Given the description of an element on the screen output the (x, y) to click on. 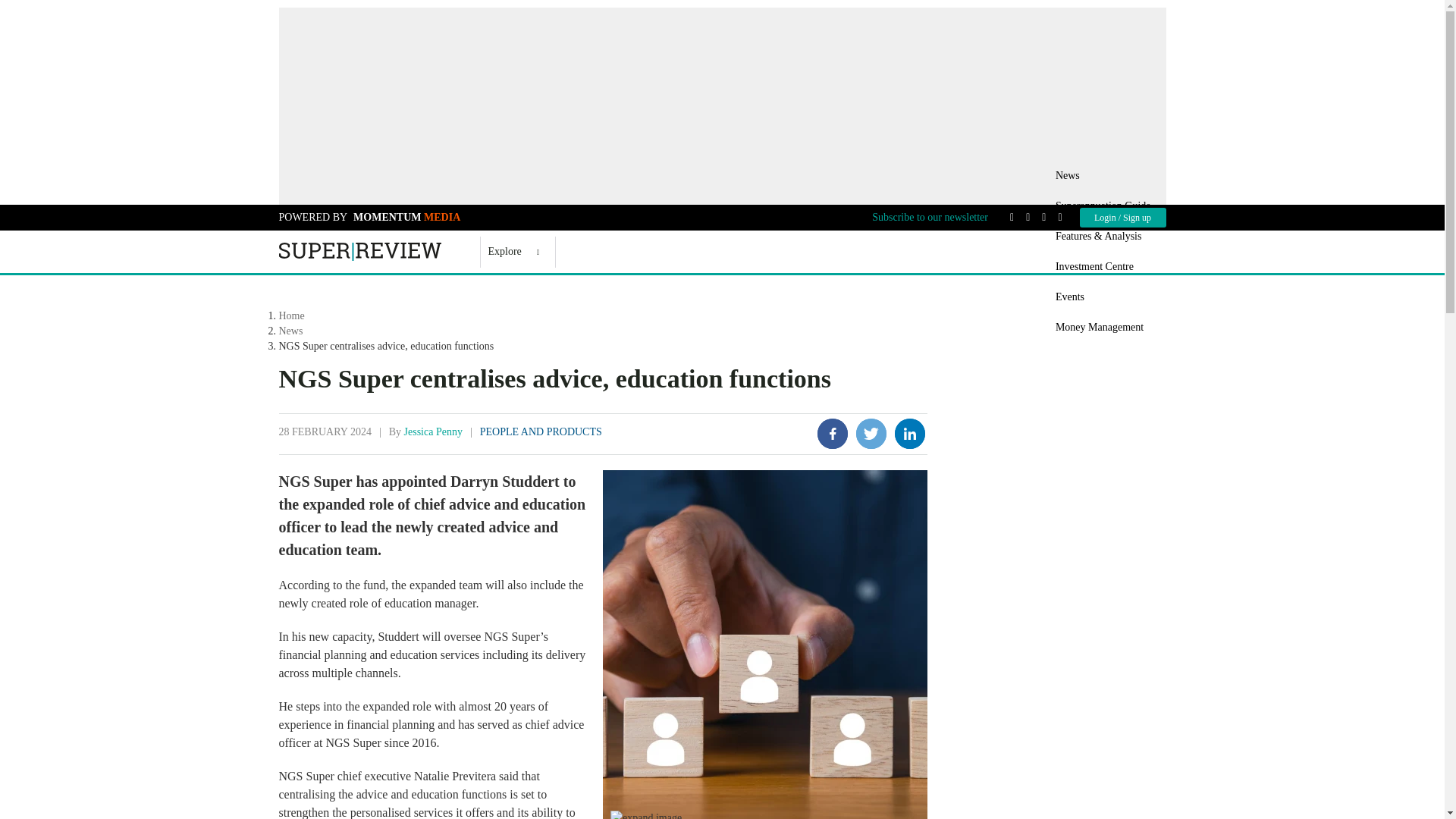
MOMENTUM MEDIA (404, 216)
Subscribe to our newsletter (930, 216)
Login (1105, 217)
Sign up (1136, 217)
Home (360, 250)
Explore (513, 251)
